Given the description of an element on the screen output the (x, y) to click on. 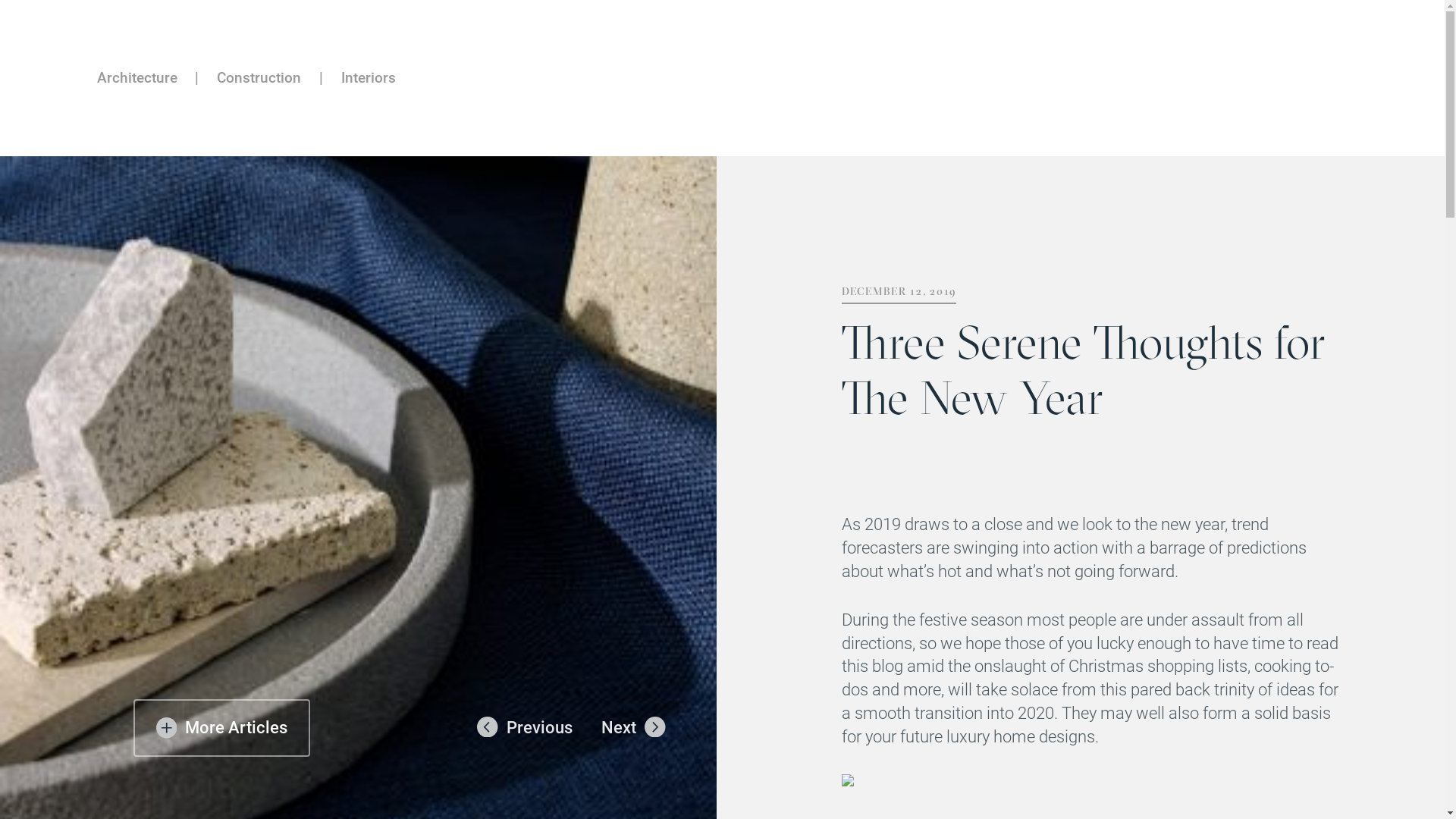
Next Element type: text (633, 728)
luxury home Element type: text (990, 736)
Felton Element type: text (151, 804)
More Articles Element type: text (221, 727)
Previous Element type: text (524, 728)
+61 2 9620 2175 Element type: text (505, 701)
enquire@feltonstudio.com.au Element type: text (542, 717)
